Given the description of an element on the screen output the (x, y) to click on. 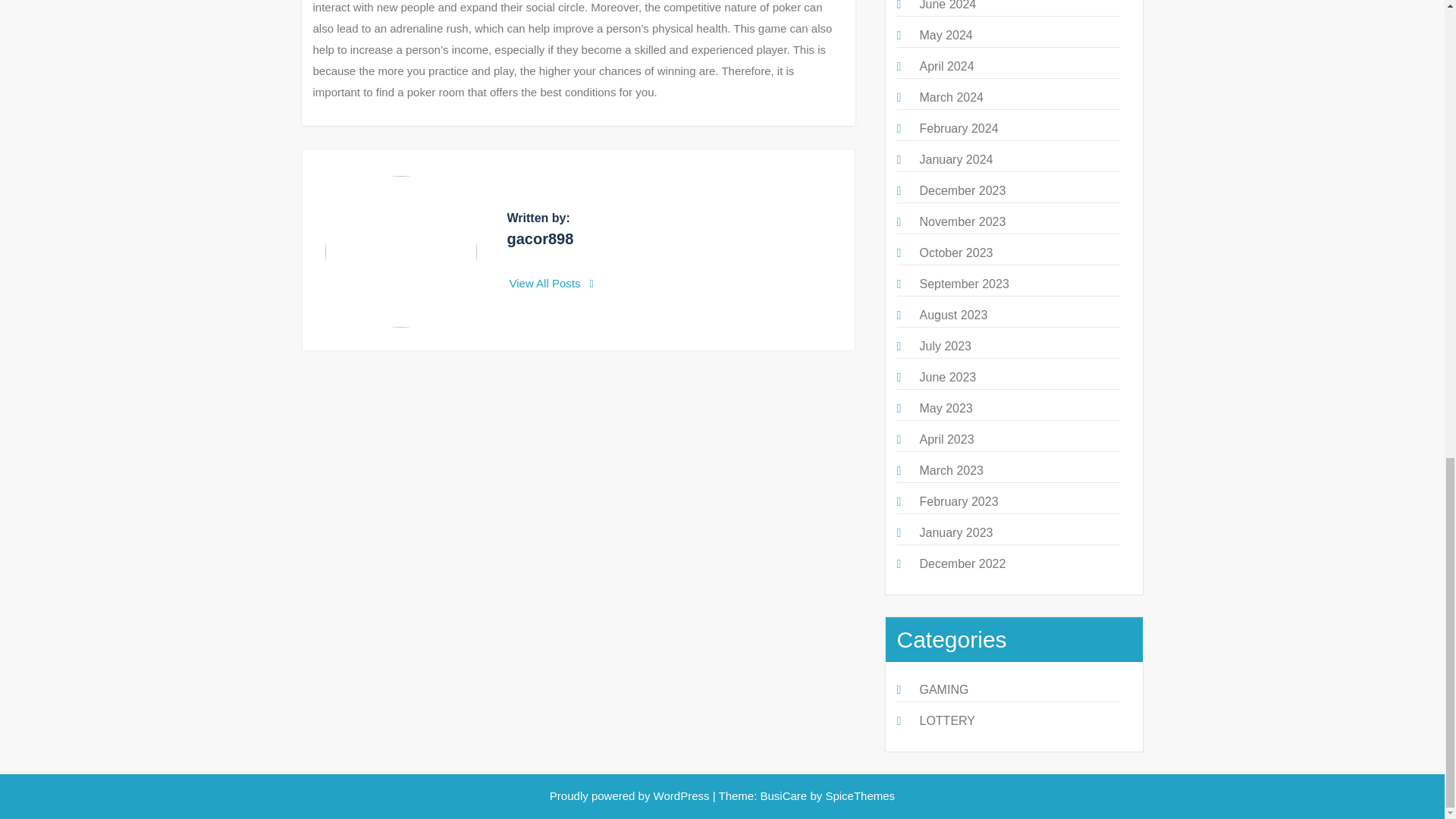
January 2023 (955, 532)
January 2024 (955, 159)
February 2024 (957, 128)
May 2023 (945, 408)
March 2024 (951, 97)
February 2023 (957, 501)
August 2023 (952, 314)
April 2024 (946, 65)
September 2023 (963, 283)
May 2024 (945, 34)
December 2023 (962, 190)
March 2023 (951, 470)
WordPress (681, 795)
April 2023 (946, 439)
June 2023 (946, 377)
